Given the description of an element on the screen output the (x, y) to click on. 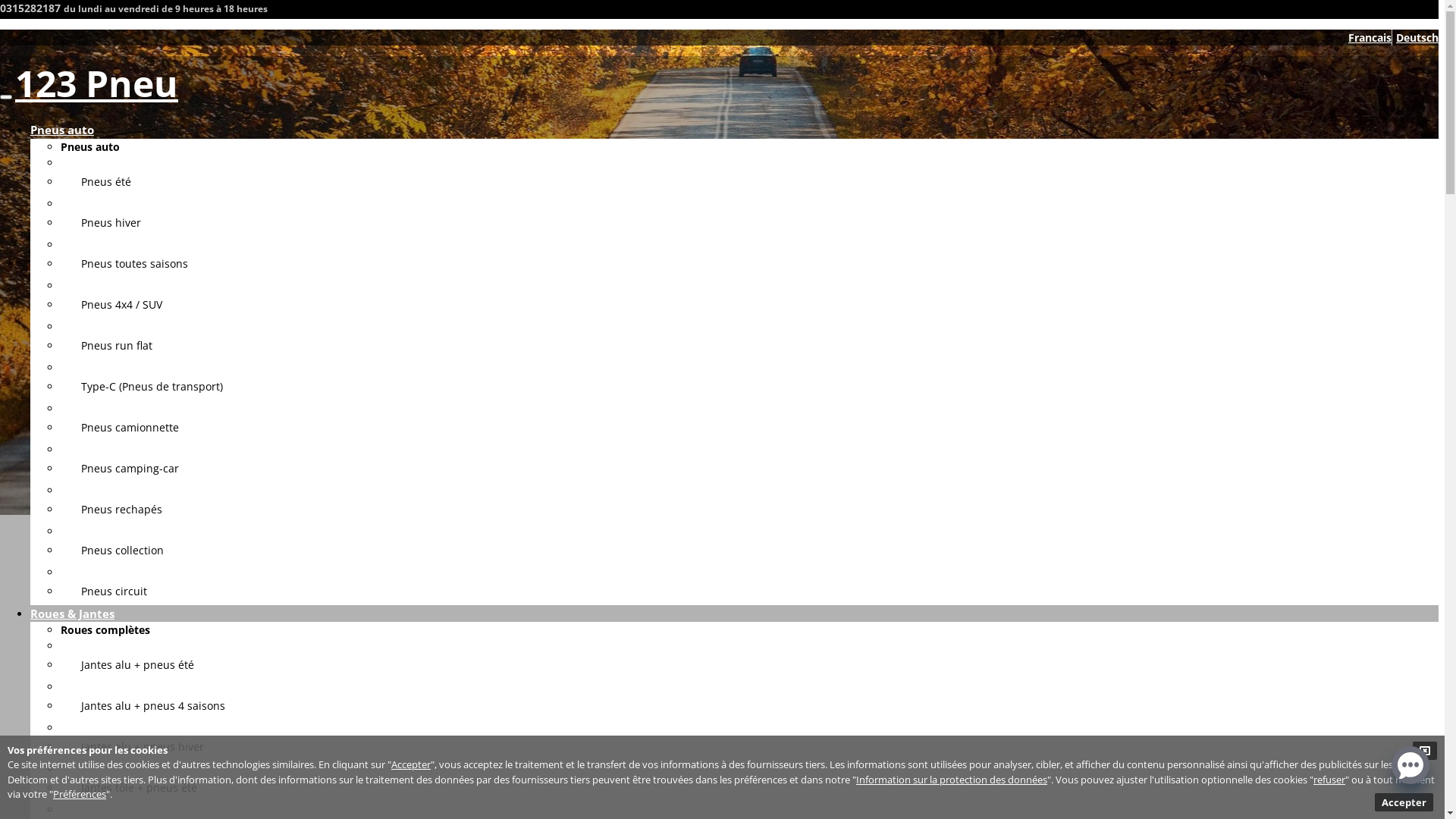
123 Pneu Element type: text (96, 82)
Accepter Element type: text (1403, 802)
Jantes alu + pneus 4 saisons Element type: text (142, 705)
Pneus toutes saisons Element type: text (124, 263)
Jantes alu + pneus hiver Element type: text (131, 746)
refuser Element type: text (1329, 778)
Pneus 4x4 / SUV Element type: text (111, 304)
Pneus collection Element type: text (111, 549)
Type-C (Pneus de transport) Element type: text (141, 386)
Francais Element type: text (1369, 37)
Toggle navigation Element type: text (6, 96)
Deutsch Element type: text (1417, 37)
Pneus run flat Element type: text (106, 345)
Pneus camping-car Element type: text (119, 468)
Pneus hiver Element type: text (100, 222)
Accepter Element type: text (410, 764)
Pneus auto Element type: text (62, 129)
Pneus circuit Element type: text (103, 590)
Roues & Jantes Element type: text (72, 612)
Pneus camionnette Element type: text (119, 427)
Pneus auto Element type: text (89, 146)
